Given the description of an element on the screen output the (x, y) to click on. 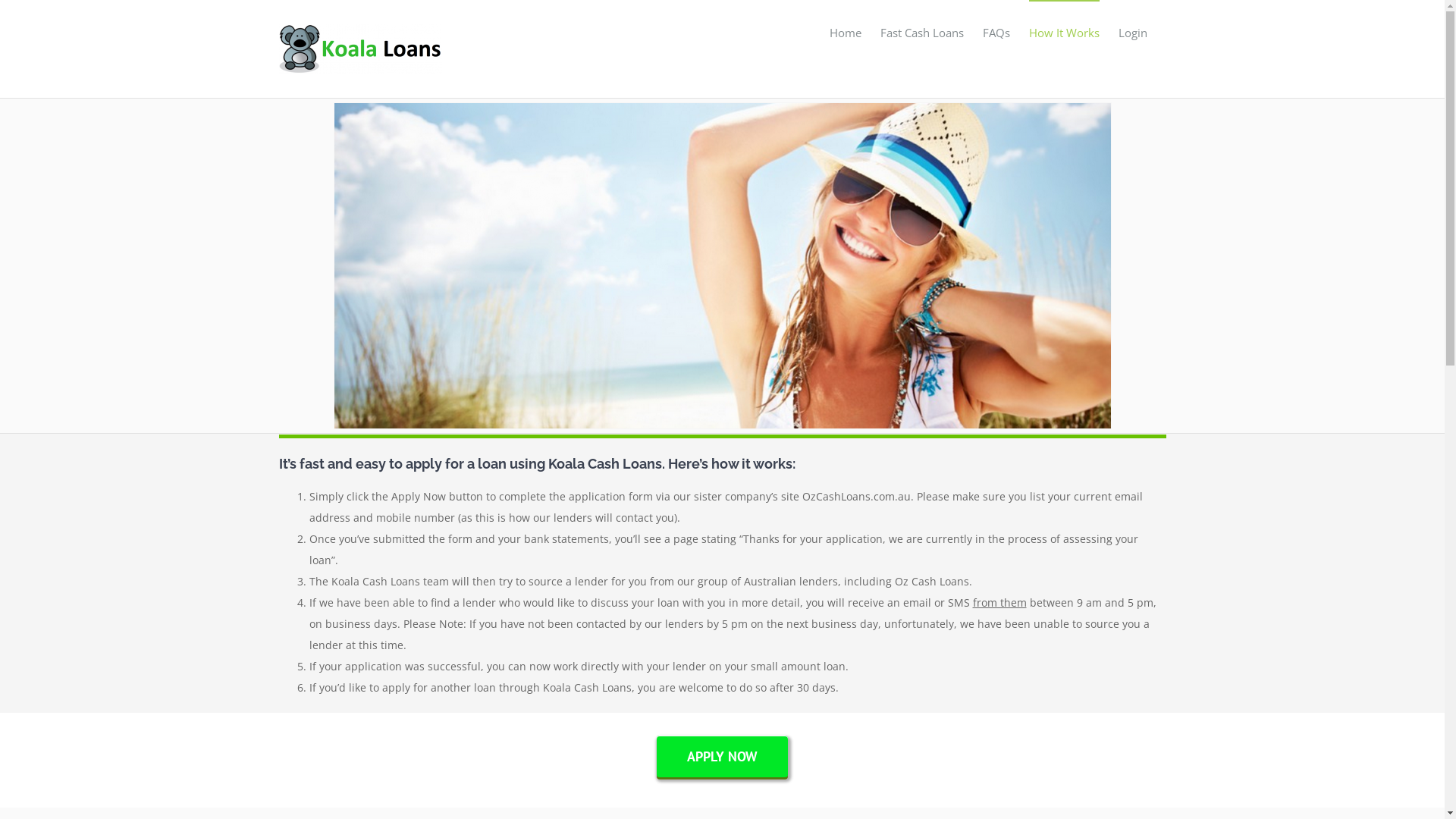
beach lady2 Element type: hover (721, 107)
Home Element type: text (845, 31)
APPLY NOW Element type: text (721, 756)
Login Element type: text (1131, 31)
Fast Cash Loans Element type: text (921, 31)
FAQs Element type: text (996, 31)
How It Works Element type: text (1063, 31)
